Given the description of an element on the screen output the (x, y) to click on. 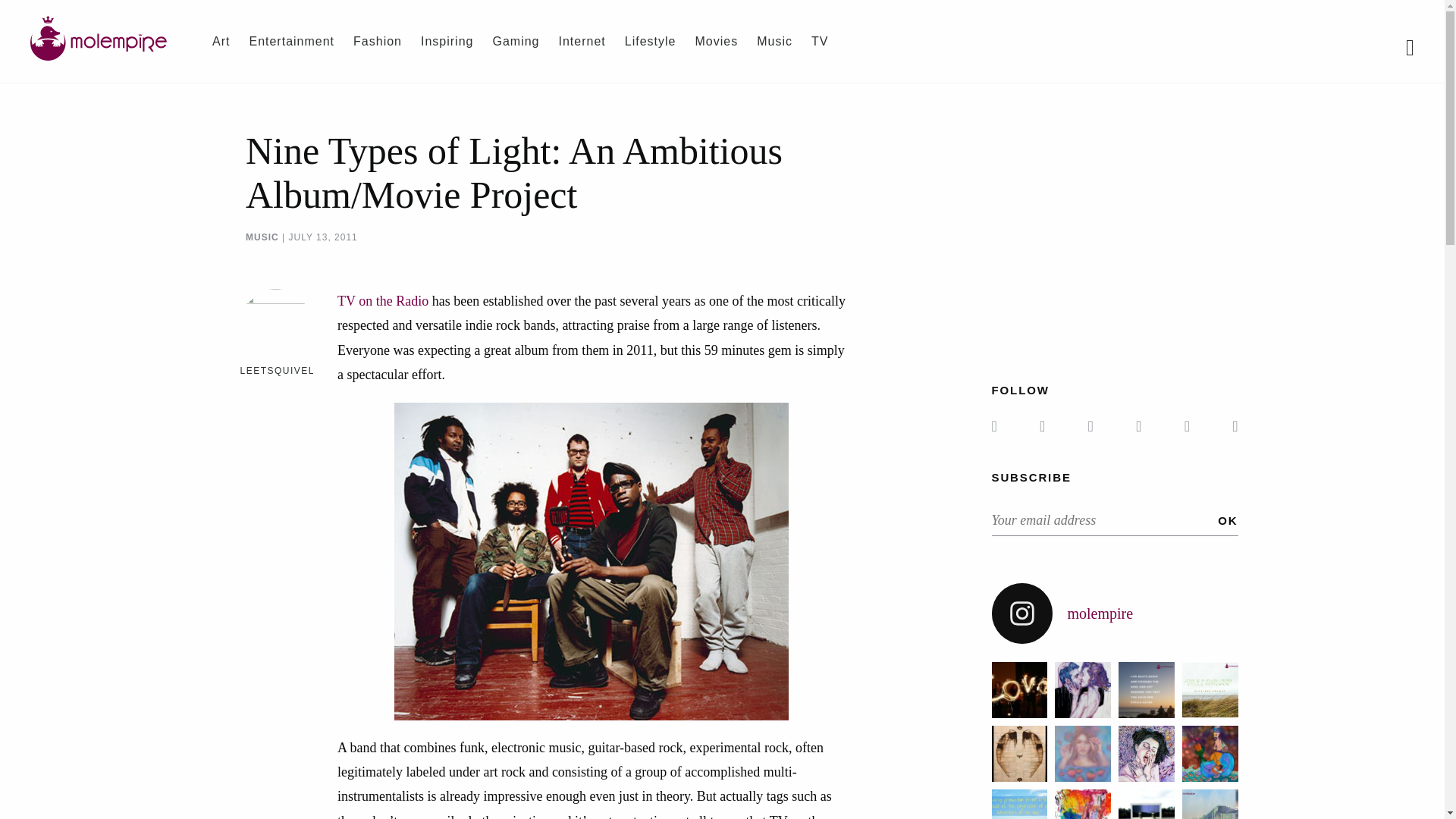
Music (774, 41)
Search (7, 7)
TV on the Radio band picture (591, 561)
Fashion (377, 41)
Inspiring (446, 41)
Movies (716, 41)
TV on the Radio (382, 300)
Art (221, 41)
LEETSQUIVEL (277, 370)
Entertainment (291, 41)
Internet (581, 41)
Lifestyle (650, 41)
Advertisement (1118, 234)
OK (1227, 520)
TV (819, 41)
